Given the description of an element on the screen output the (x, y) to click on. 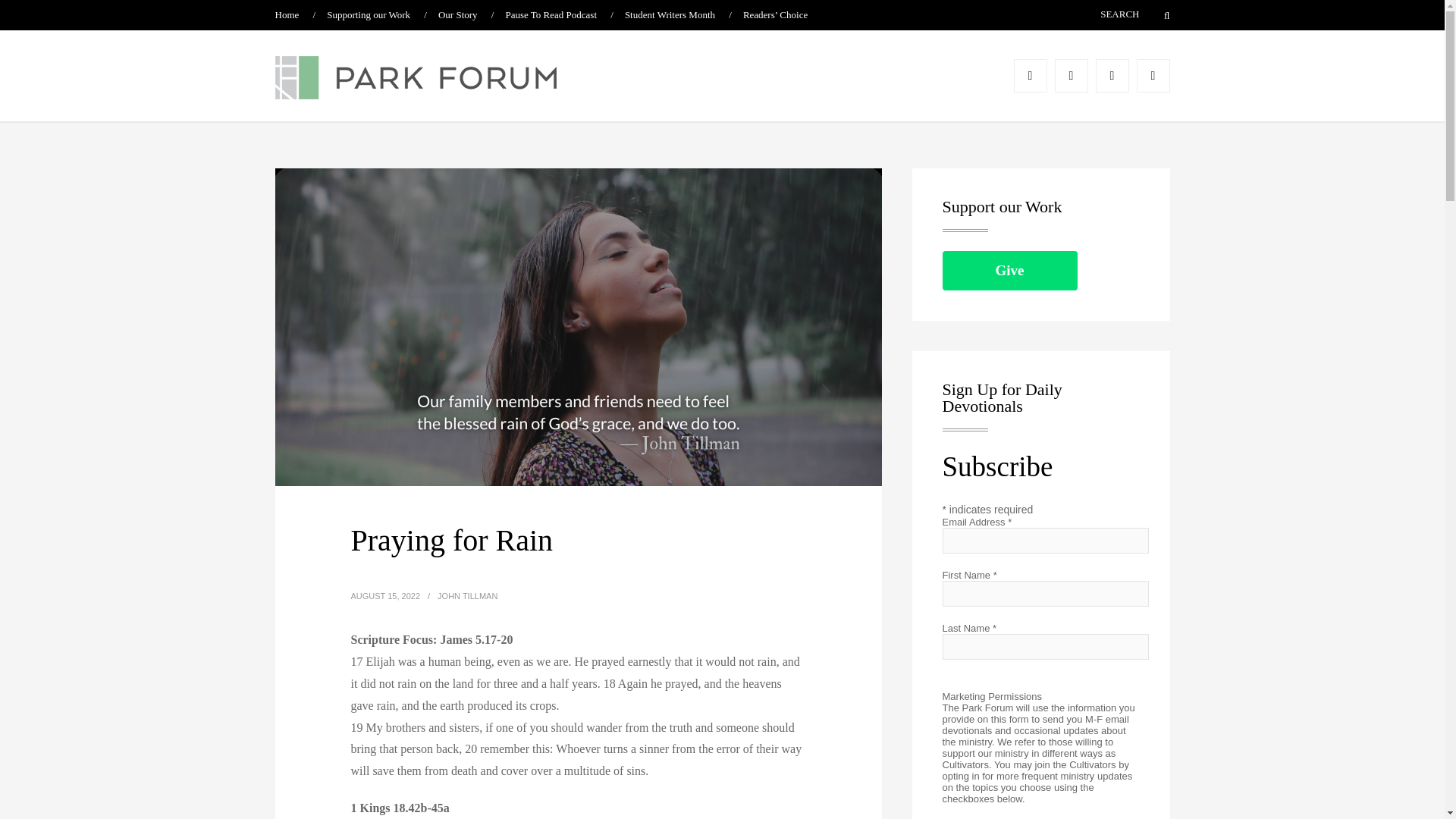
Pause To Read Podcast (550, 14)
SEARCH (1096, 14)
Home (286, 14)
Give (1009, 270)
Supporting our Work (368, 14)
Our Story (457, 14)
Student Writers Month (669, 14)
Praying for Rain (451, 540)
Search (1158, 15)
